Given the description of an element on the screen output the (x, y) to click on. 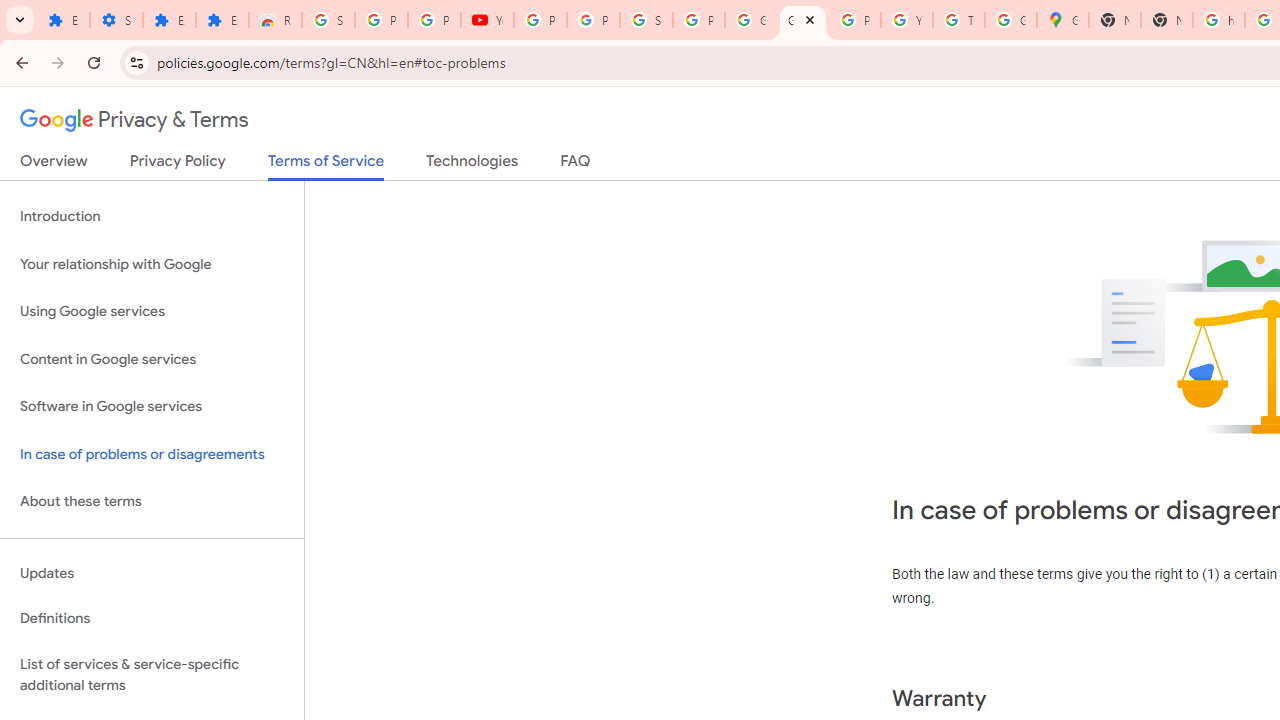
Privacy Policy (177, 165)
Sign in - Google Accounts (646, 20)
Extensions (169, 20)
https://scholar.google.com/ (1219, 20)
Software in Google services (152, 407)
Introduction (152, 216)
Privacy & Terms (134, 120)
YouTube (487, 20)
List of services & service-specific additional terms (152, 674)
Reviews: Helix Fruit Jump Arcade Game (275, 20)
Google Maps (1062, 20)
